Given the description of an element on the screen output the (x, y) to click on. 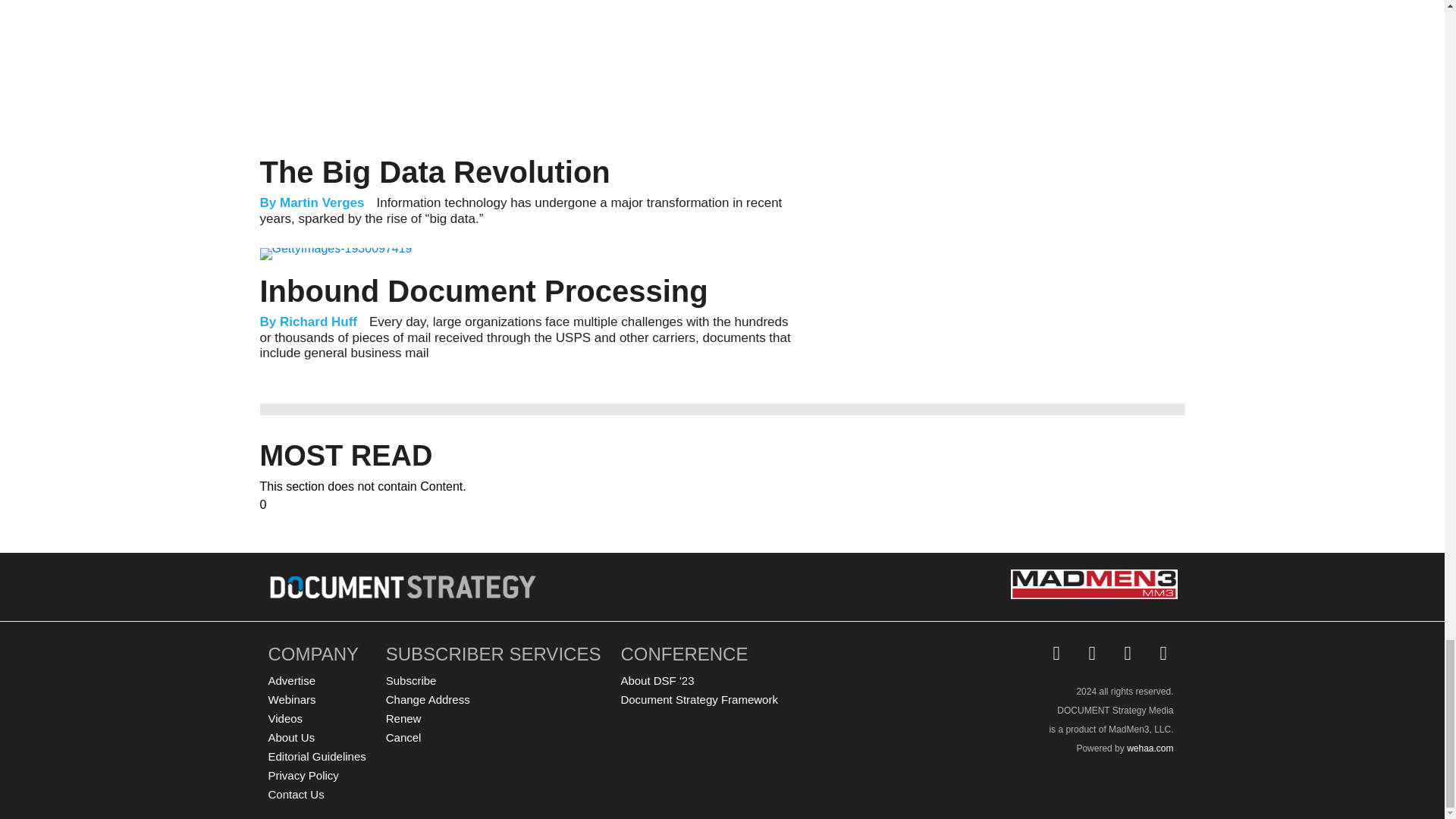
Document Strategy Media  (405, 586)
